Given the description of an element on the screen output the (x, y) to click on. 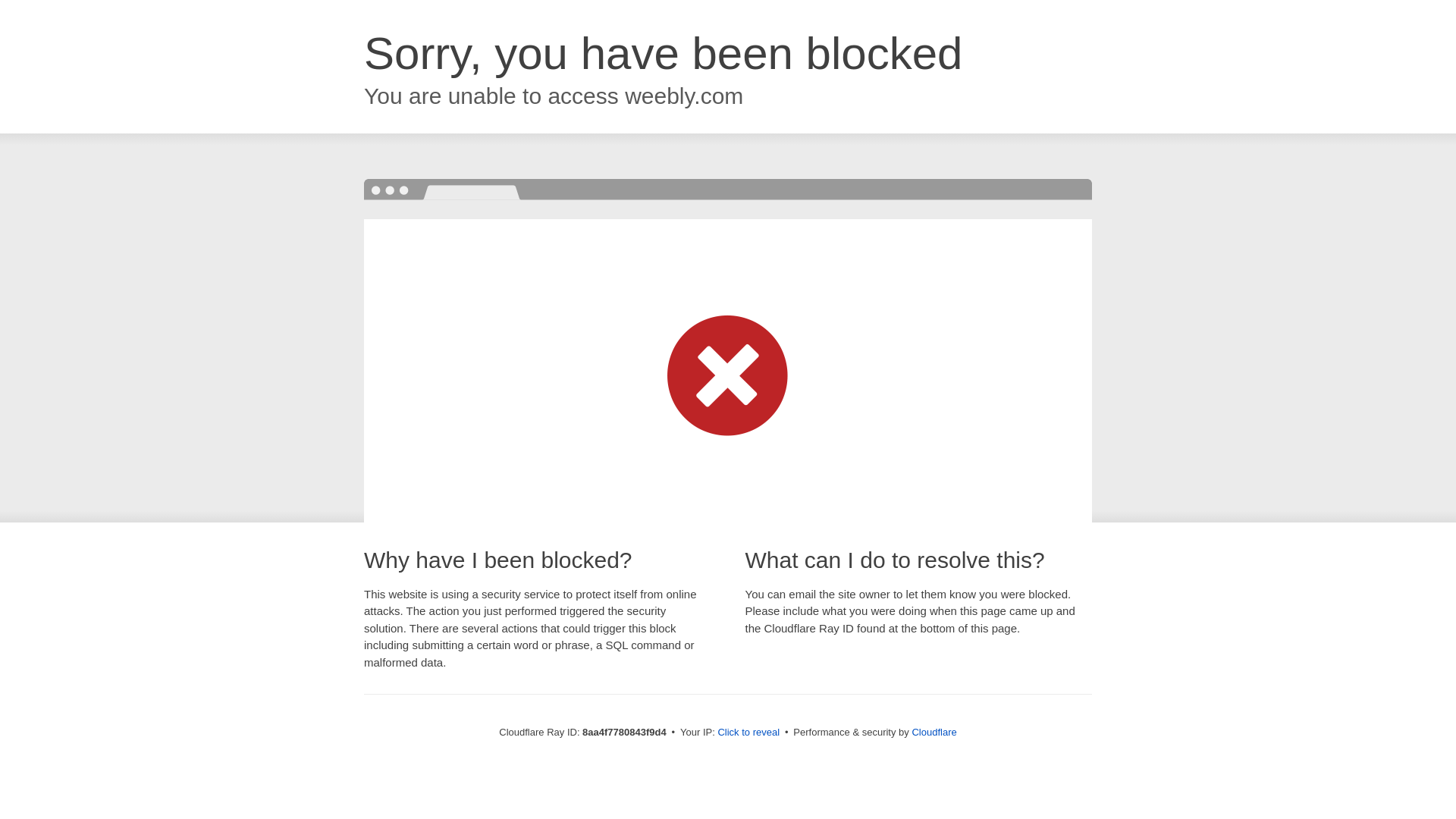
Click to reveal (747, 732)
Cloudflare (933, 731)
